Given the description of an element on the screen output the (x, y) to click on. 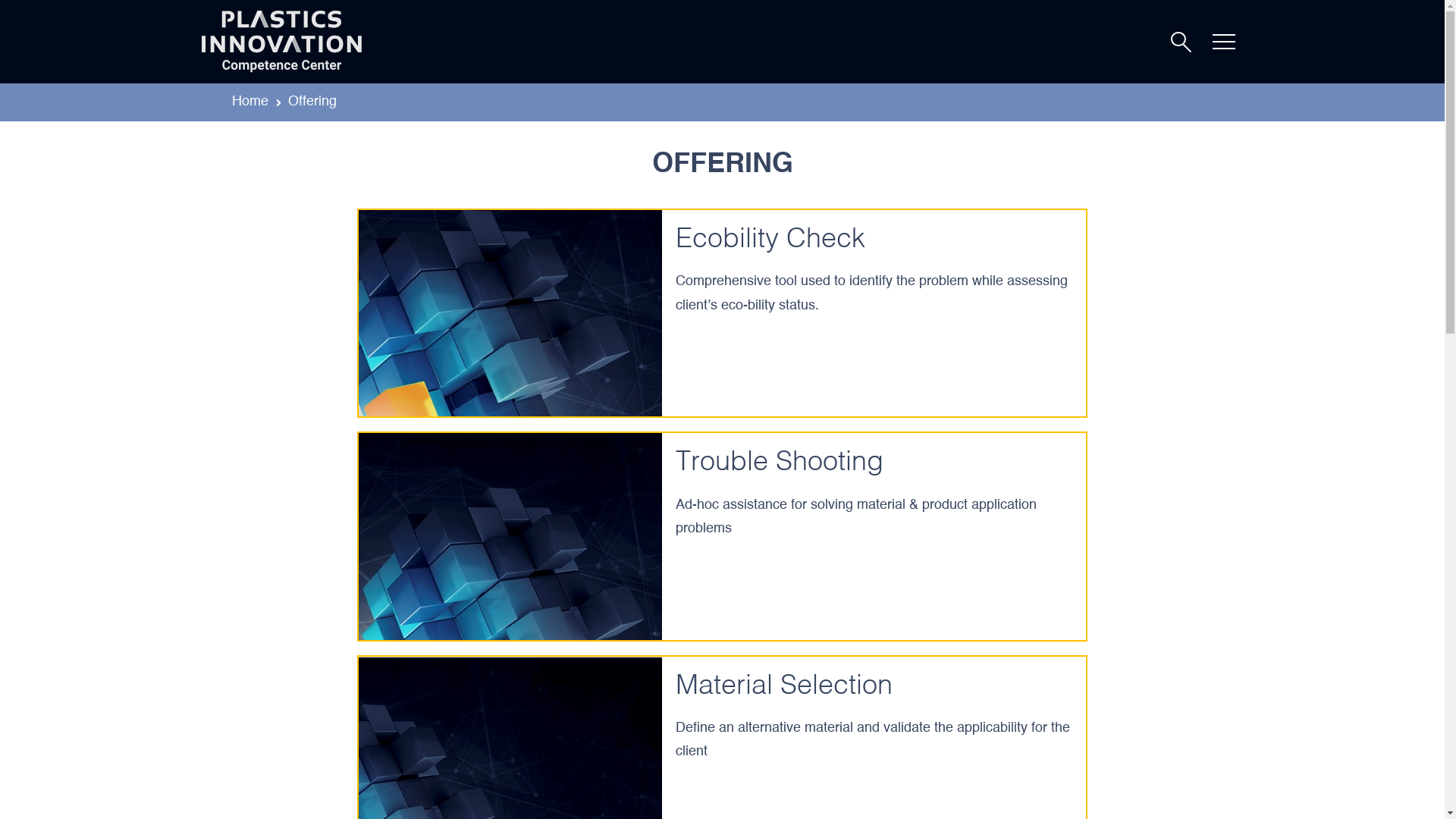
1.Circularity Element type: hover (510, 313)
Home Element type: text (250, 101)
1.Biobased Economy Element type: hover (510, 536)
